Given the description of an element on the screen output the (x, y) to click on. 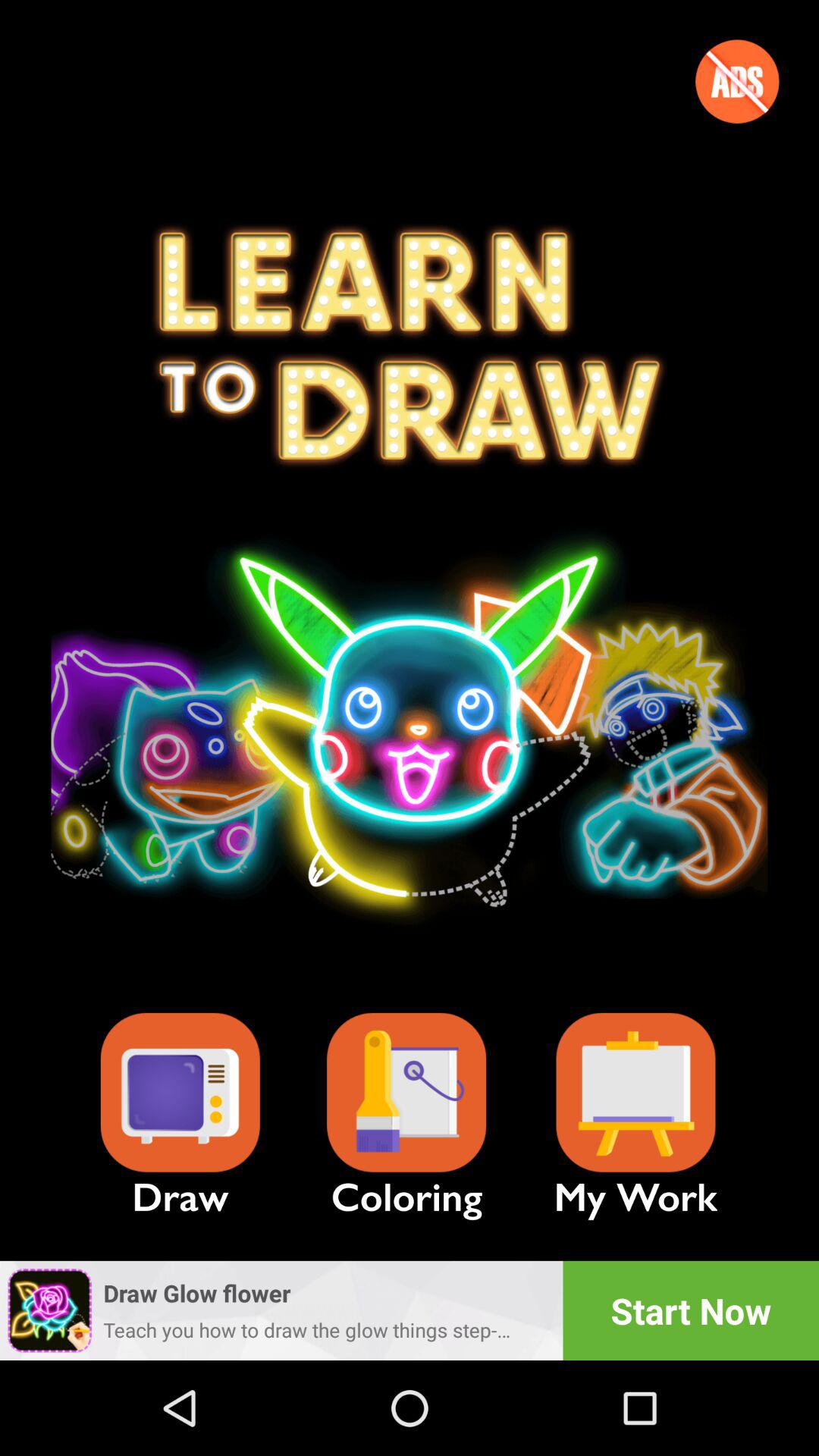
select icon at the top right corner (737, 81)
